Given the description of an element on the screen output the (x, y) to click on. 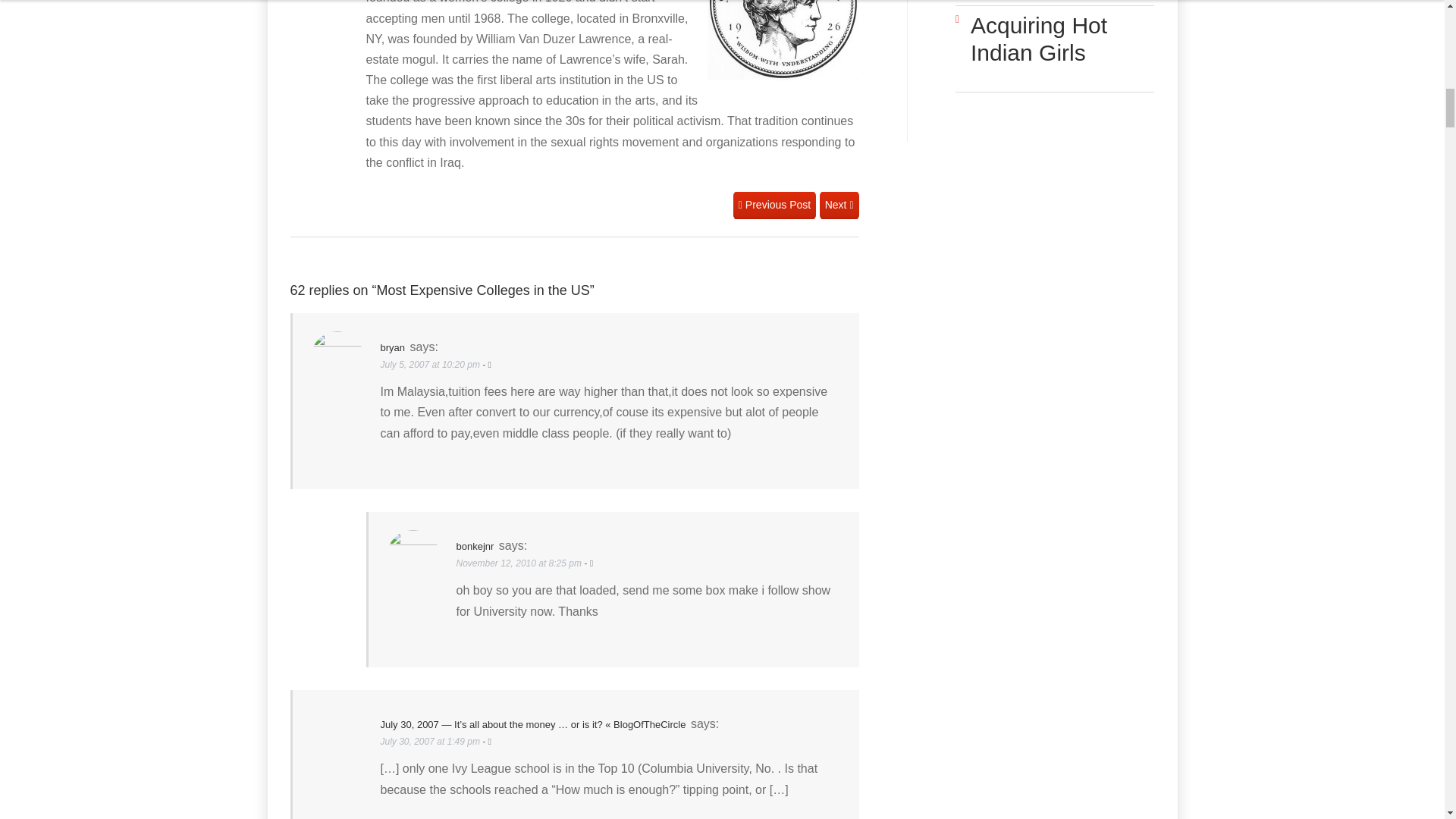
Previous Post (774, 205)
July 30, 2007 at 1:49 pm (431, 741)
July 30, 2007 at 1:49 pm (431, 741)
Next (839, 205)
November 12, 2010 at 8:25 pm (521, 562)
July 5, 2007 at 10:20 pm (431, 364)
July 5, 2007 at 10:20 pm (431, 364)
November 12, 2010 at 8:25 pm (521, 562)
